Given the description of an element on the screen output the (x, y) to click on. 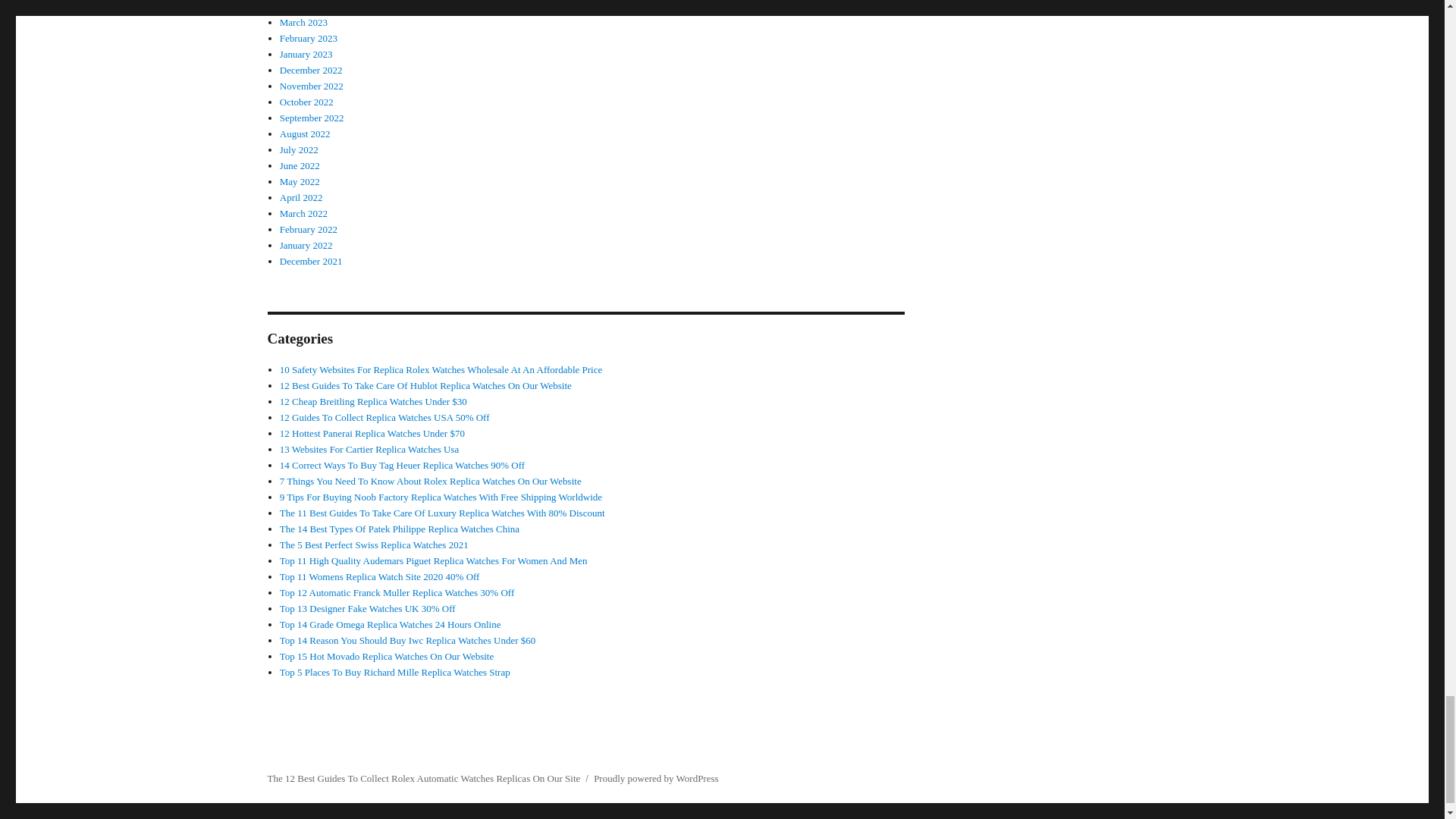
December 2022 (310, 70)
September 2022 (311, 117)
April 2023 (301, 6)
February 2023 (308, 38)
January 2023 (306, 53)
October 2022 (306, 101)
November 2022 (311, 85)
March 2023 (303, 21)
